Given the description of an element on the screen output the (x, y) to click on. 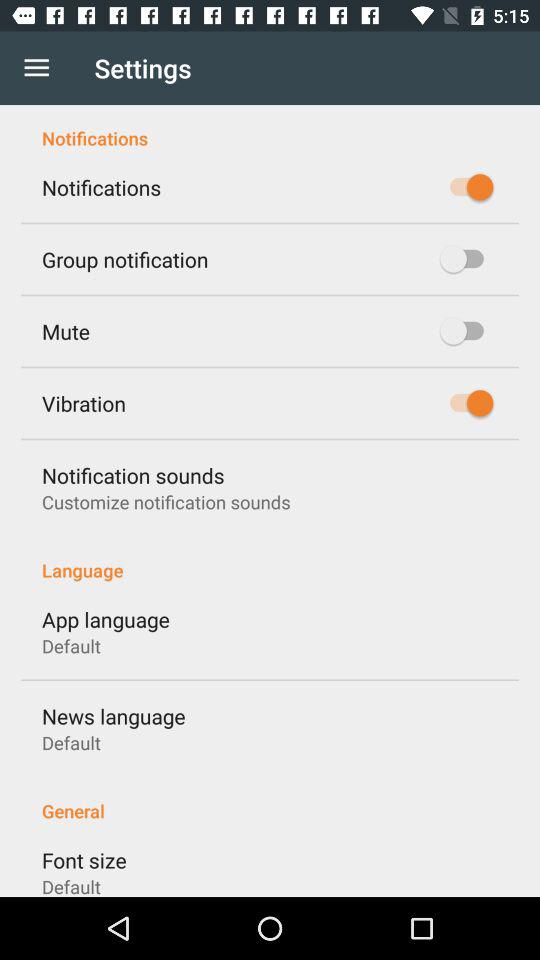
turn off the item below the general icon (84, 860)
